Given the description of an element on the screen output the (x, y) to click on. 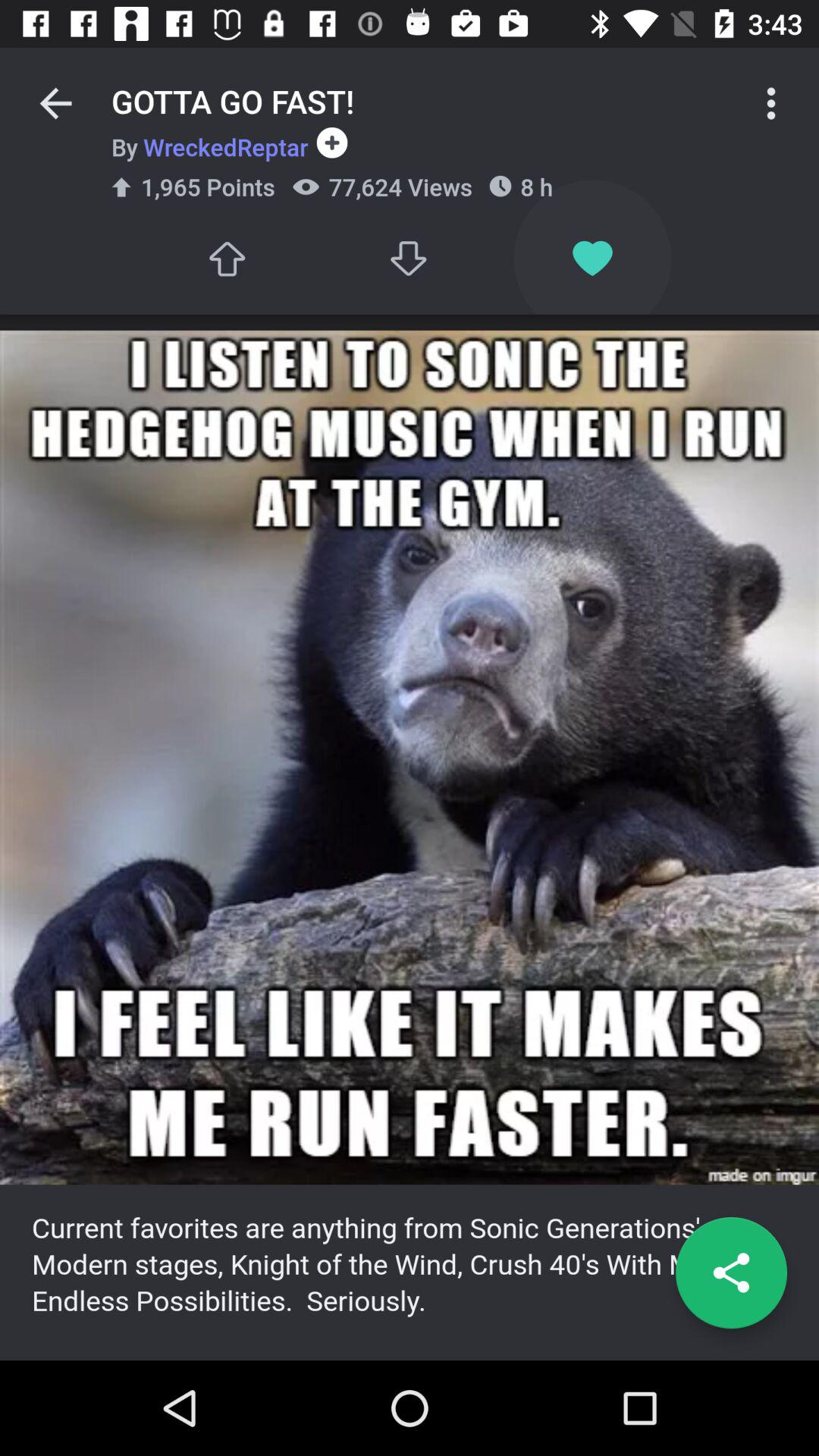
jump to the by wreckedreptar (209, 146)
